Given the description of an element on the screen output the (x, y) to click on. 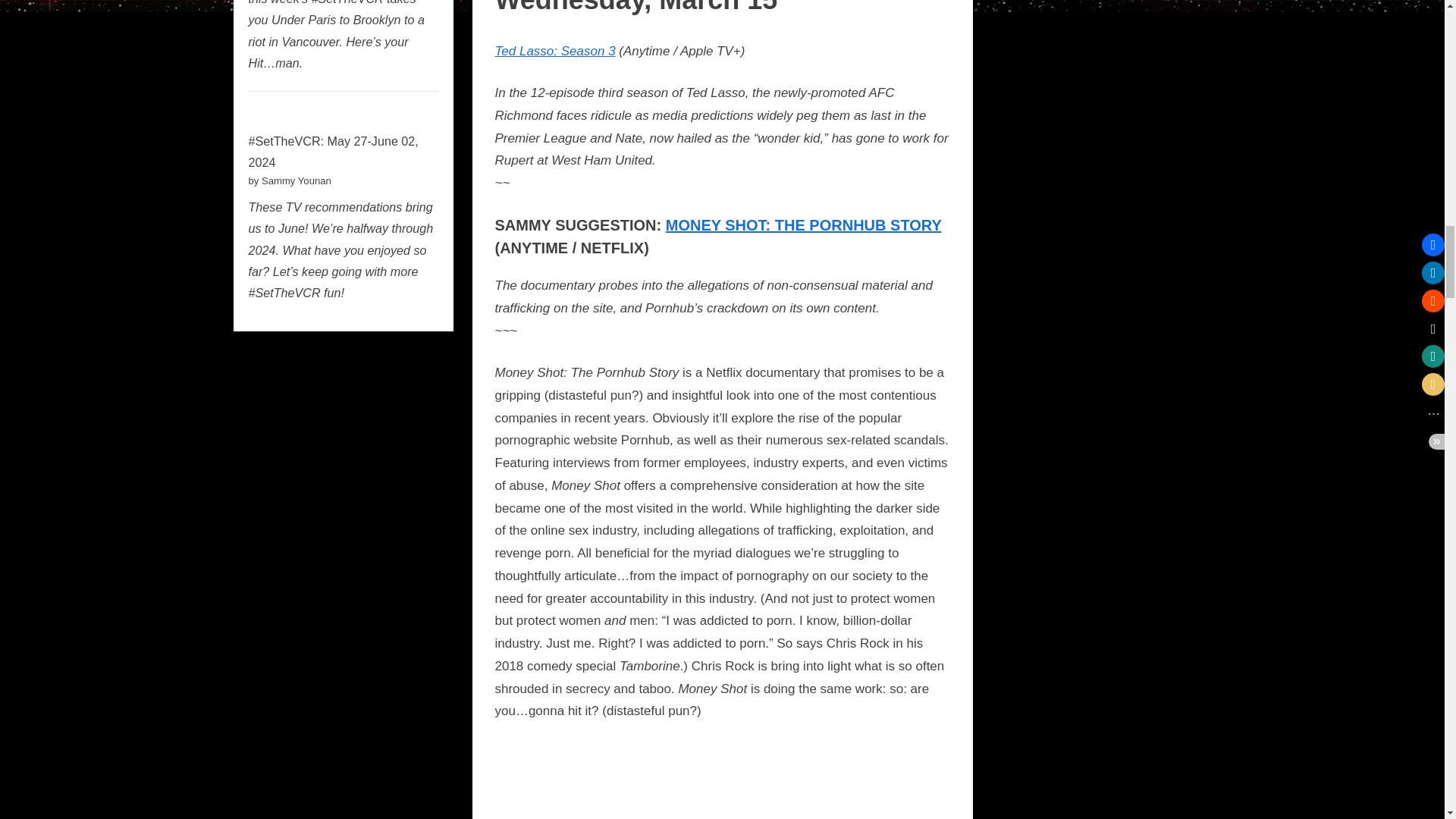
MONEY SHOT: THE PORNHUB STORY (803, 225)
Ted Lasso: Season 3 (554, 51)
